Given the description of an element on the screen output the (x, y) to click on. 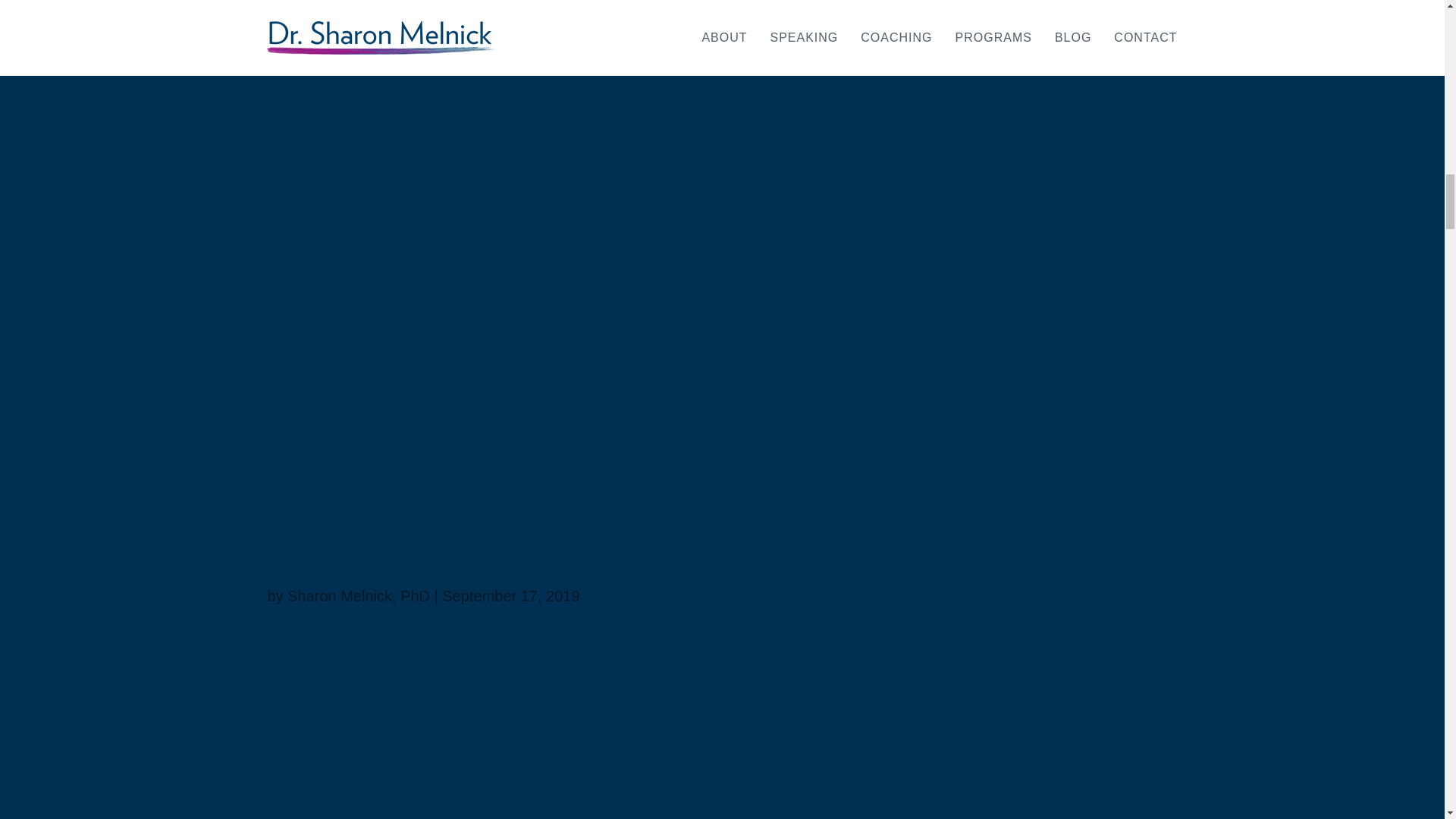
So You Think You Want Power? (391, 565)
